Given the description of an element on the screen output the (x, y) to click on. 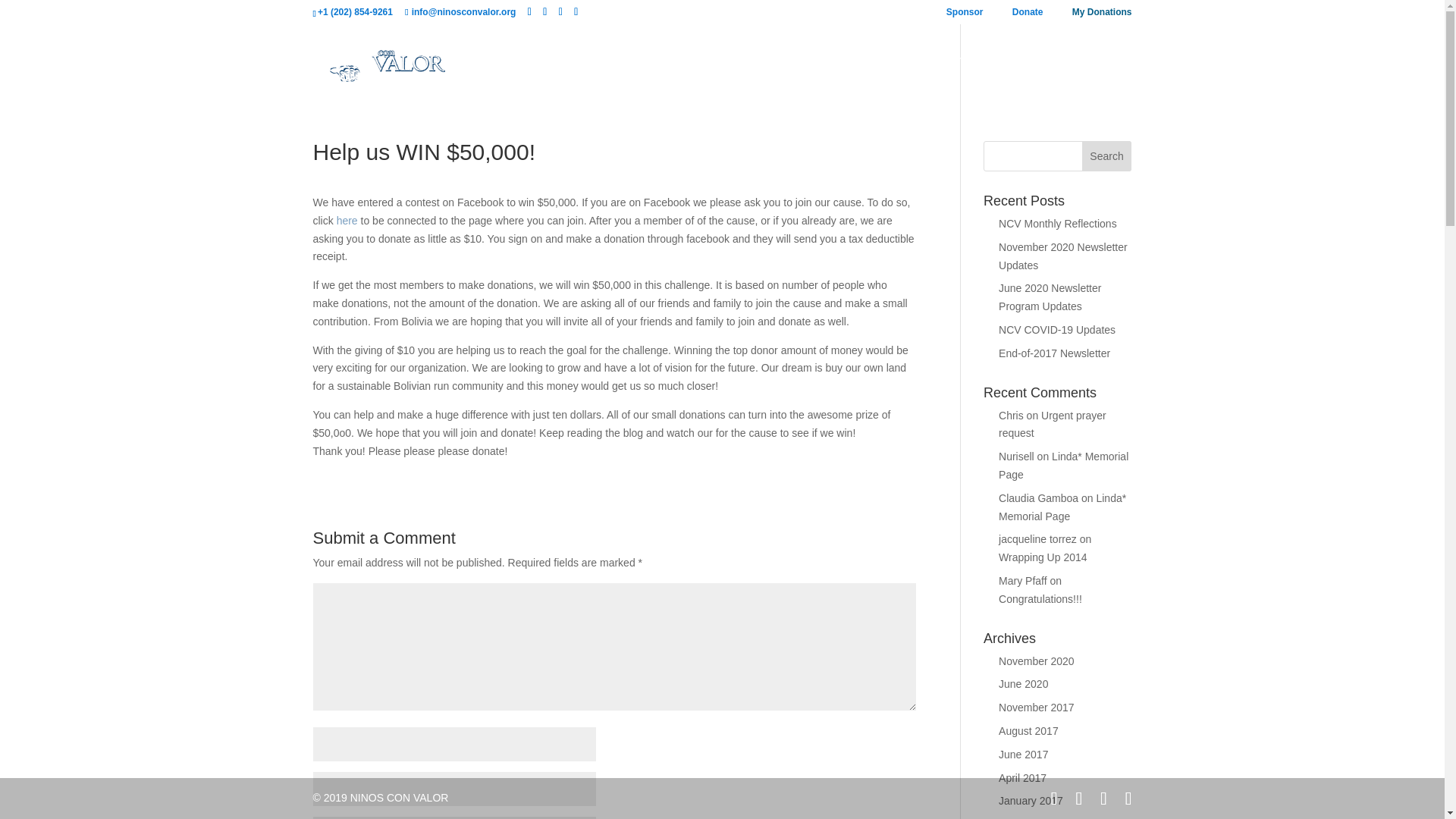
here (347, 220)
Search (1106, 155)
Search (1106, 155)
NCV COVID-19 Updates (1056, 329)
Get Involved (966, 76)
November 2020 (1036, 661)
NCV Monthly Reflections (1057, 223)
Urgent prayer request (1052, 424)
End-of-2017 Newsletter (1053, 353)
Sponsor (965, 15)
My Donations (1101, 15)
November 2020 Newsletter Updates (1062, 255)
Wrapping Up 2014 (1042, 557)
June 2020 Newsletter Program Updates (1049, 296)
Donate (1027, 15)
